Given the description of an element on the screen output the (x, y) to click on. 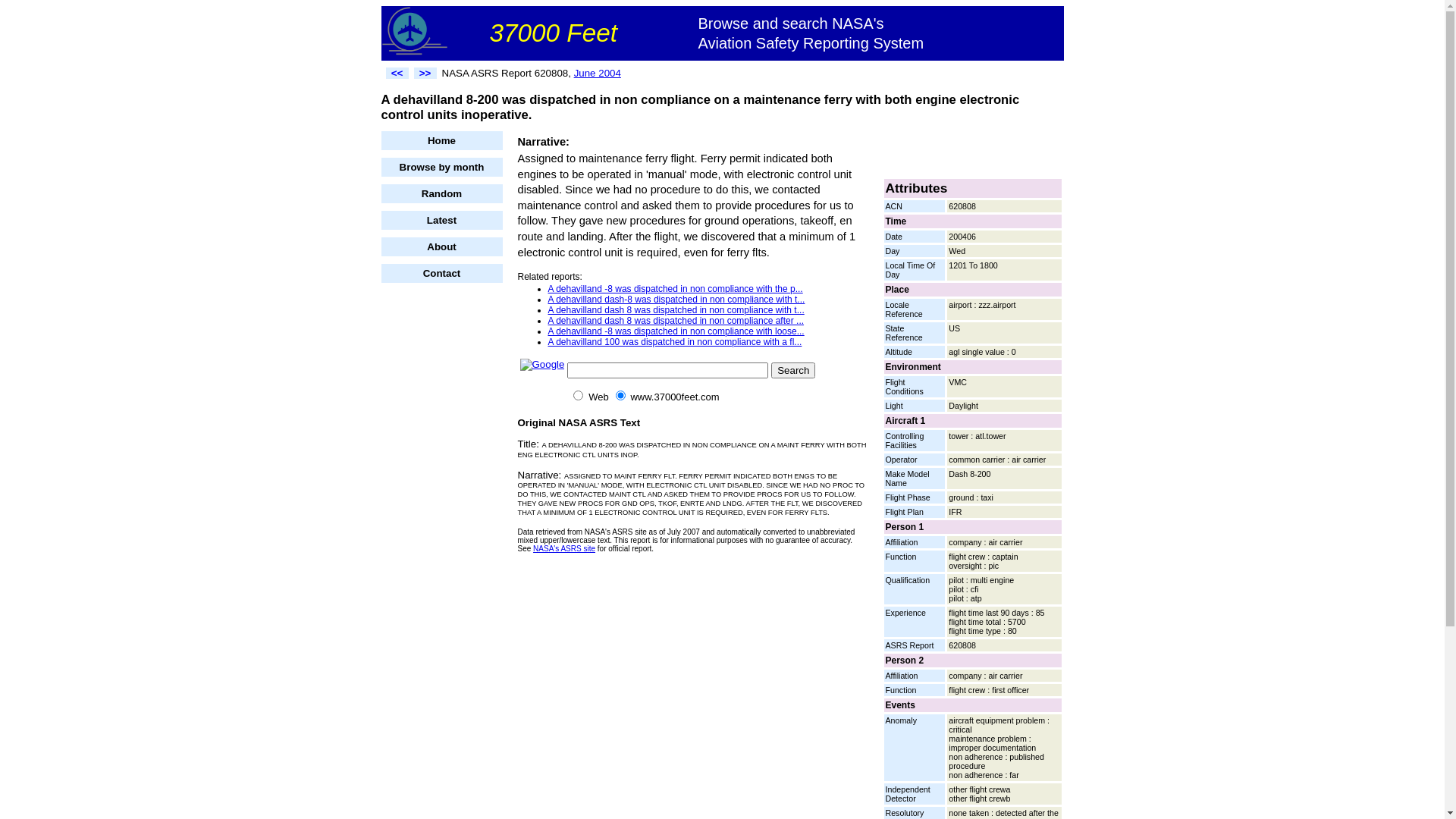
Browse by month Element type: text (441, 166)
<< Element type: text (396, 72)
Home Element type: text (441, 140)
Advertisement Element type: hover (972, 153)
Contact Element type: text (441, 272)
NASA's ASRS site Element type: text (564, 548)
Advertisement Element type: hover (441, 517)
June 2004 Element type: text (597, 72)
>> Element type: text (425, 72)
Random Element type: text (441, 193)
Search Element type: text (793, 370)
Latest Element type: text (441, 219)
About Element type: text (441, 246)
